Given the description of an element on the screen output the (x, y) to click on. 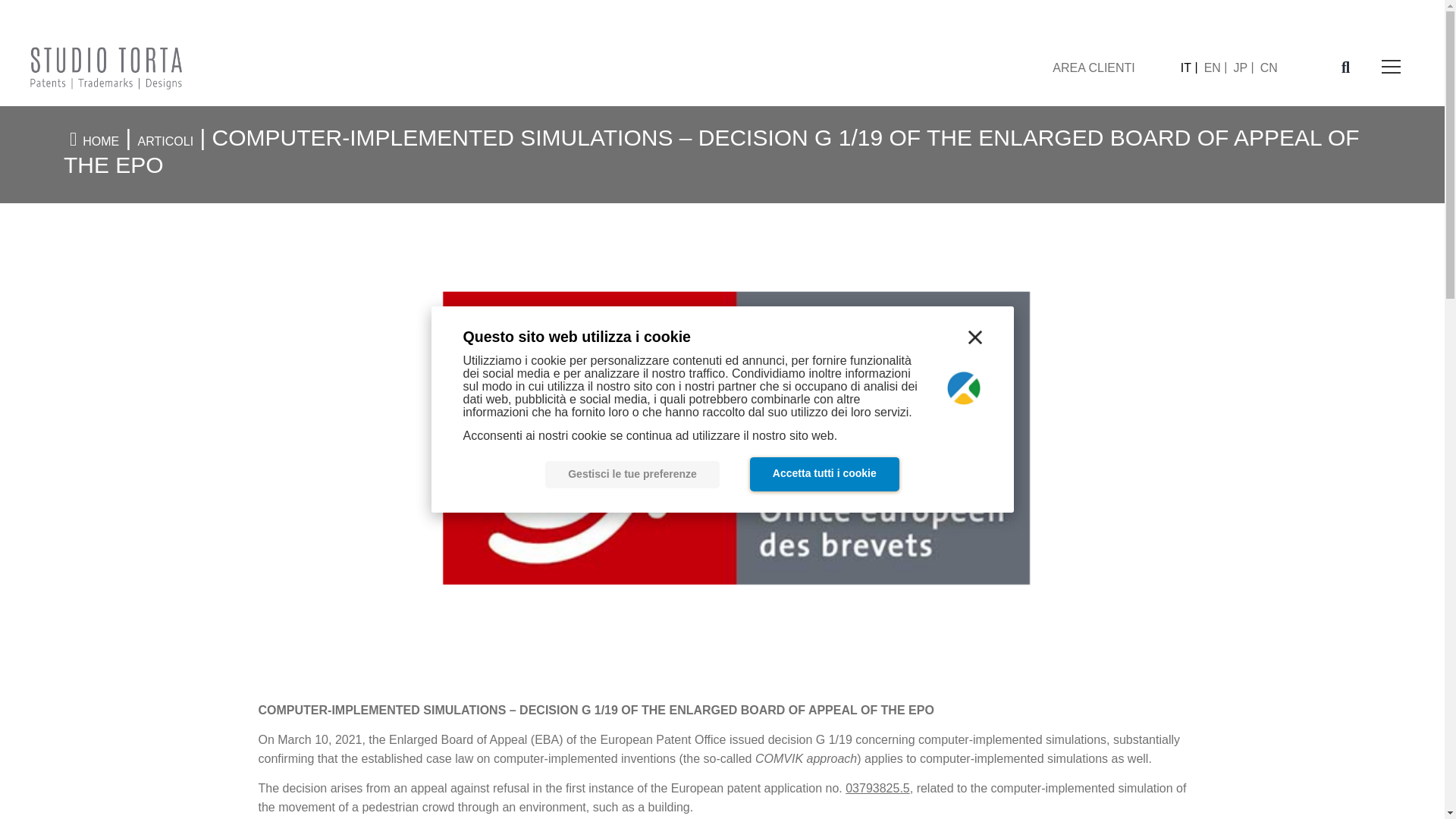
IT (1189, 67)
HOME (100, 141)
area clienti (1093, 67)
Gestisci le tue preferenze (631, 474)
03793825.5 (877, 788)
EN (1215, 67)
Accetta tutti i cookie (824, 474)
ARTICOLI (165, 141)
Articoli (165, 141)
AREA CLIENTI (1093, 67)
JP (1243, 67)
CN (1269, 67)
